Given the description of an element on the screen output the (x, y) to click on. 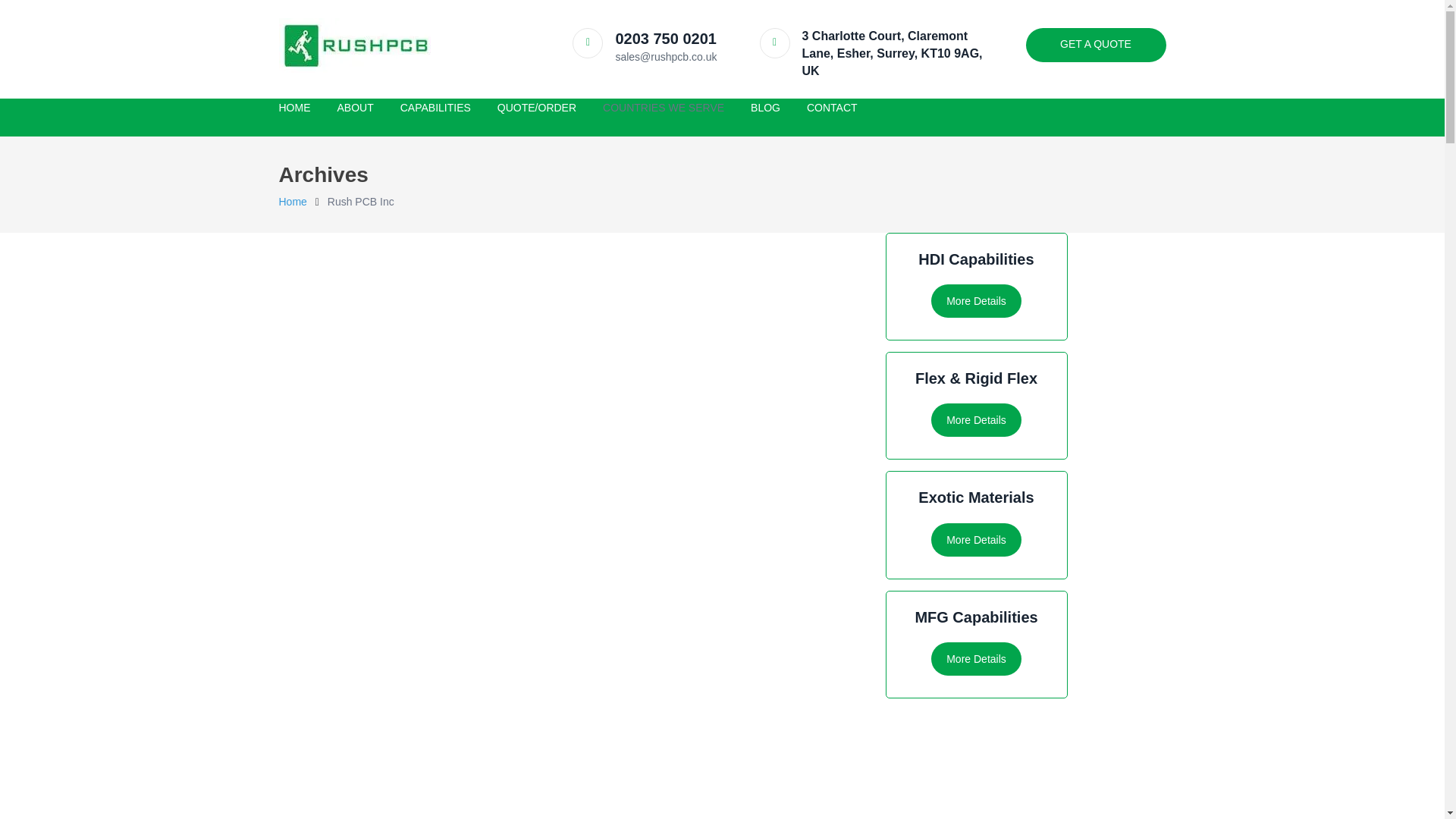
COUNTRIES WE SERVE (662, 107)
GET A QUOTE (1095, 44)
0203 750 0201 (665, 38)
RUSH PCB Ltd (293, 201)
HOME (295, 107)
CAPABILITIES (435, 107)
ABOUT (354, 107)
